Given the description of an element on the screen output the (x, y) to click on. 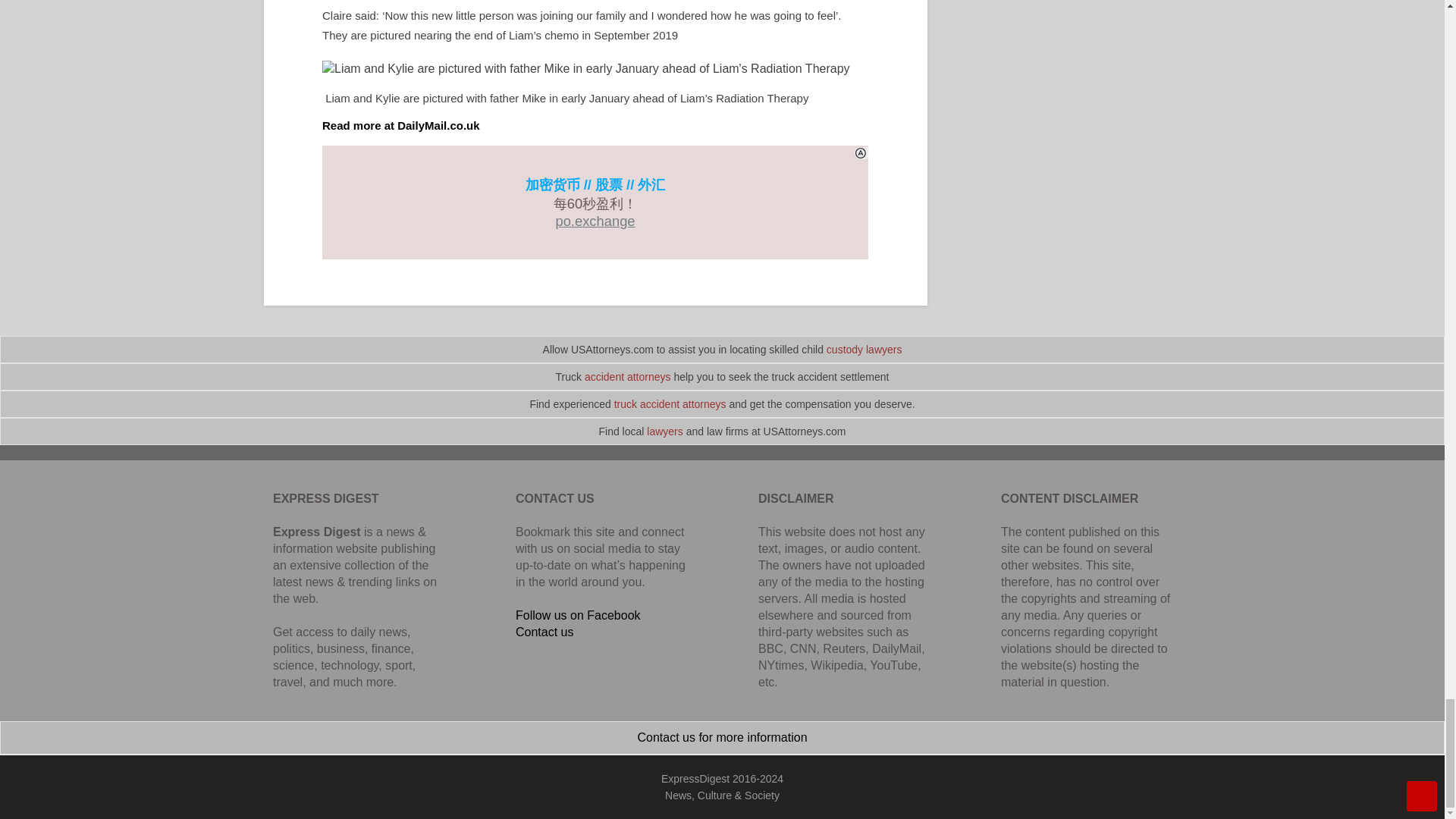
custody lawyers (864, 349)
lawyers (664, 431)
Read more at DailyMail.co.uk (400, 124)
accident attorneys (628, 377)
truck accident attorneys (670, 404)
